Given the description of an element on the screen output the (x, y) to click on. 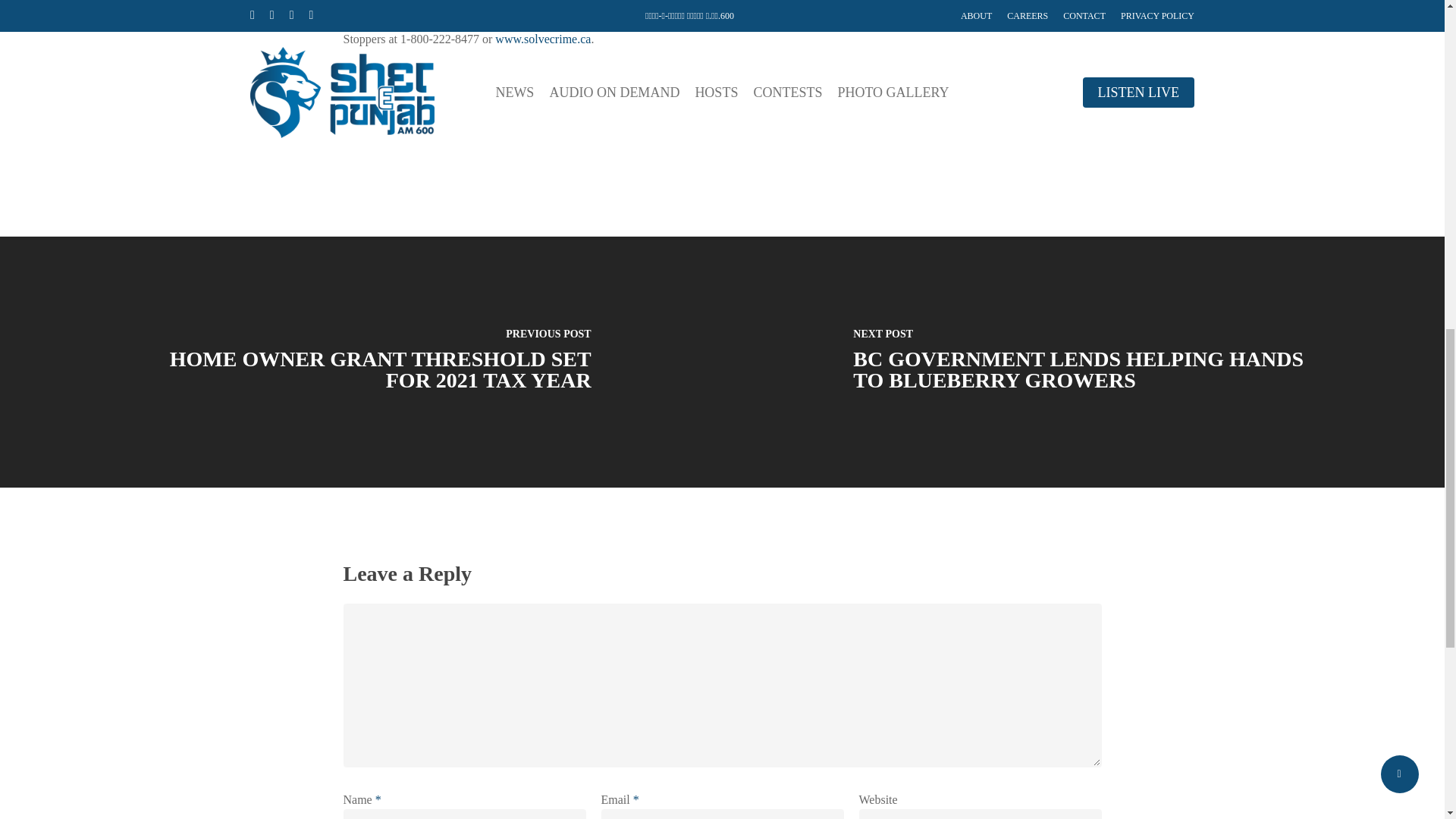
www.solvecrime.ca (543, 38)
